Given the description of an element on the screen output the (x, y) to click on. 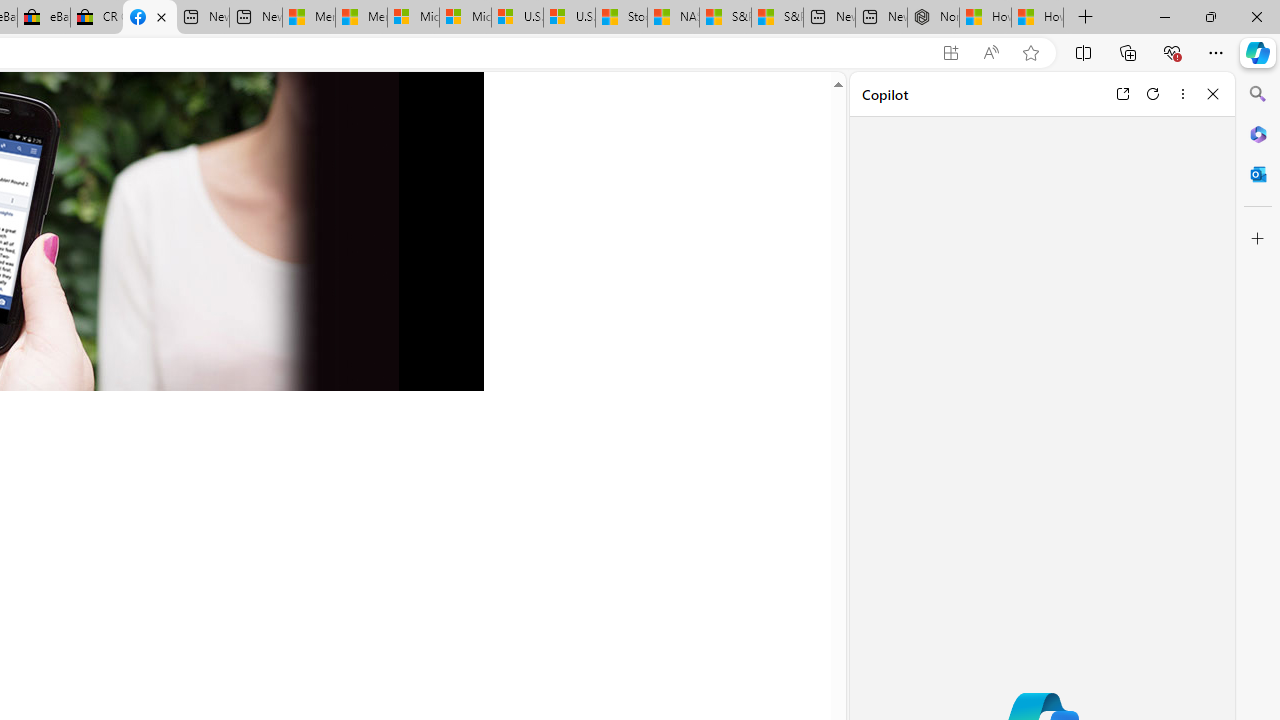
How to Use a Monitor With Your Closed Laptop (1037, 17)
Open link in new tab (1122, 93)
Split screen (1083, 52)
Browser essentials (1171, 52)
New tab (881, 17)
Outlook (1258, 174)
Refresh (1153, 93)
More options (1182, 93)
Restore (1210, 16)
Search (1258, 94)
Collections (1128, 52)
